Given the description of an element on the screen output the (x, y) to click on. 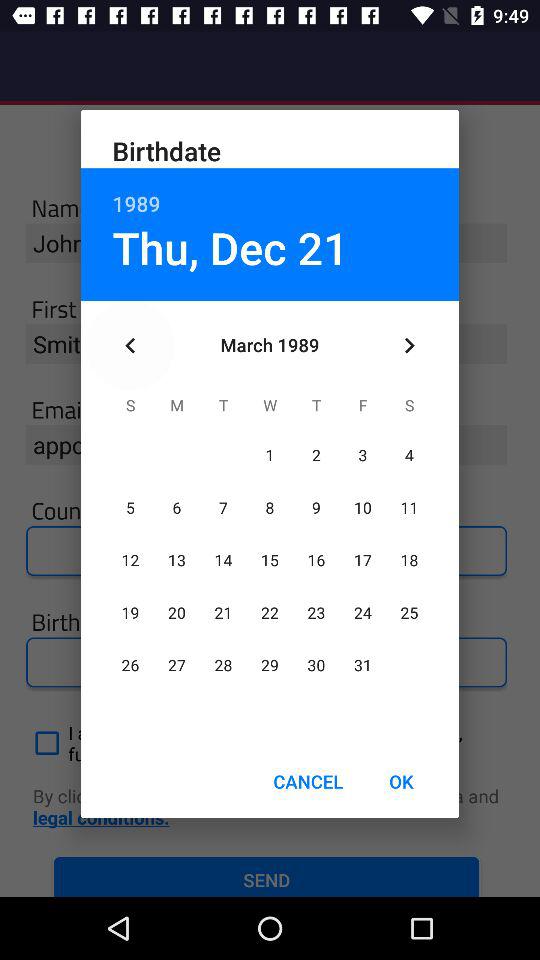
turn on 1989 item (269, 192)
